Given the description of an element on the screen output the (x, y) to click on. 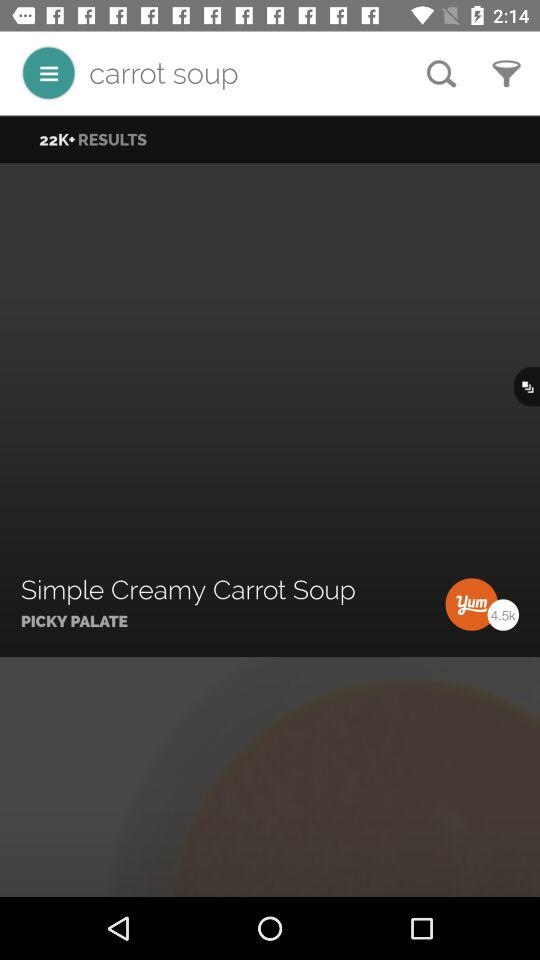
press icon to the left of carrot soup (48, 72)
